Given the description of an element on the screen output the (x, y) to click on. 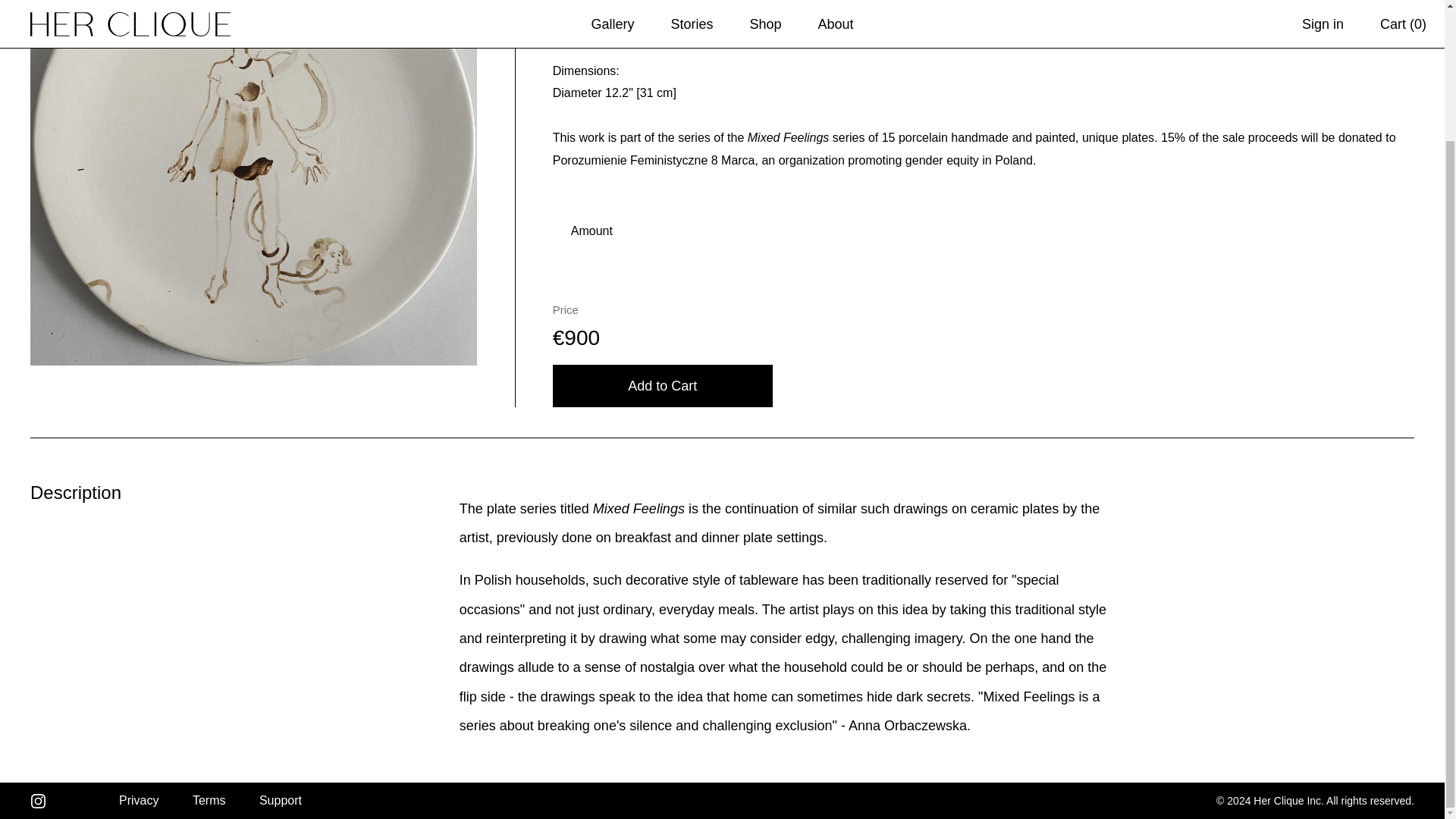
Support (280, 799)
Privacy (138, 799)
Terms (208, 799)
